Given the description of an element on the screen output the (x, y) to click on. 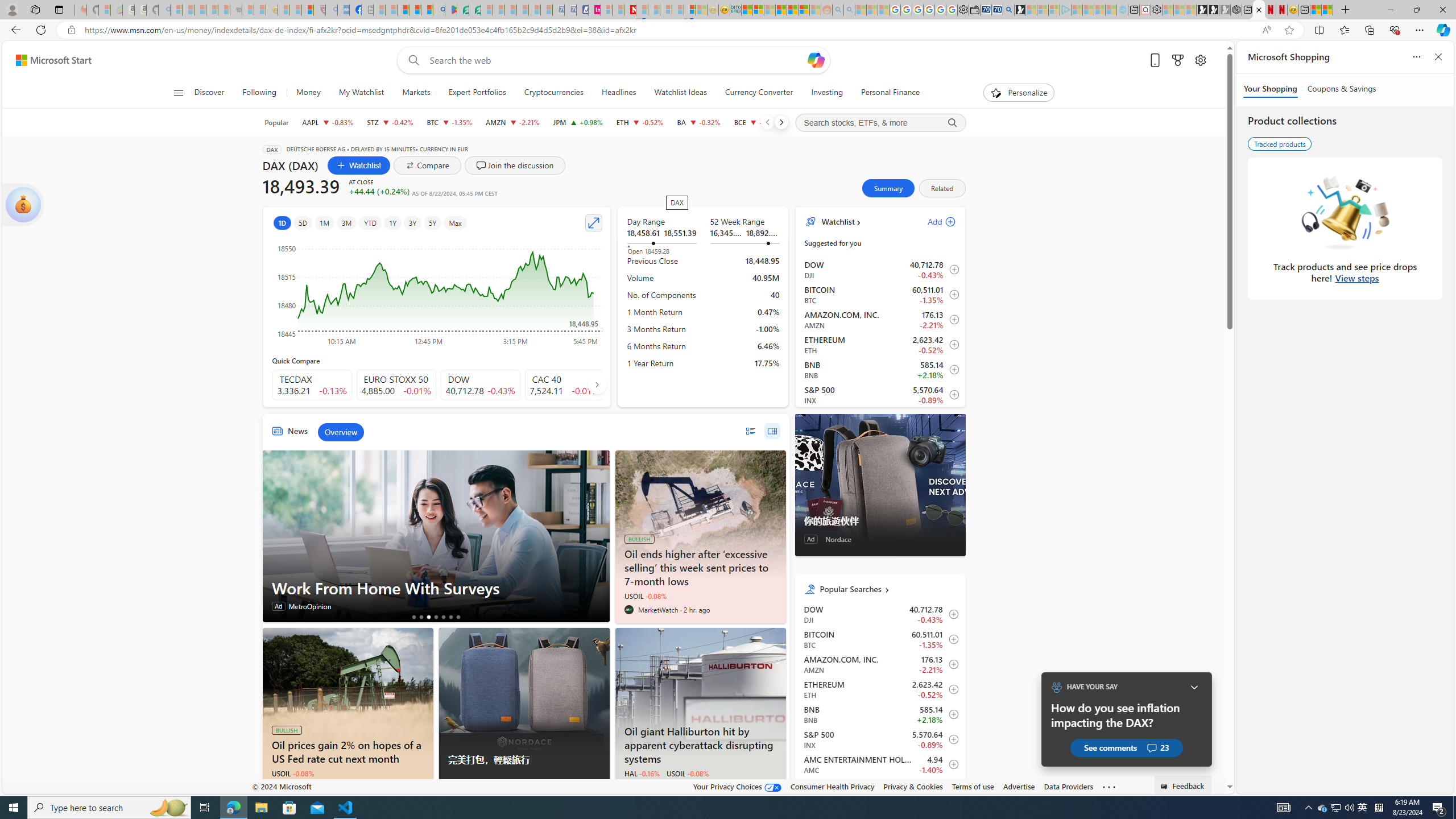
Bluey: Let's Play! - Apps on Google Play (450, 9)
Cryptocurrencies (553, 92)
ADA Cardano increase 0.37 +0.00 +1.09% itemundefined (879, 789)
3M (346, 223)
AAPL APPLE INC. decrease 224.53 -1.87 -0.83% (328, 122)
